Given the description of an element on the screen output the (x, y) to click on. 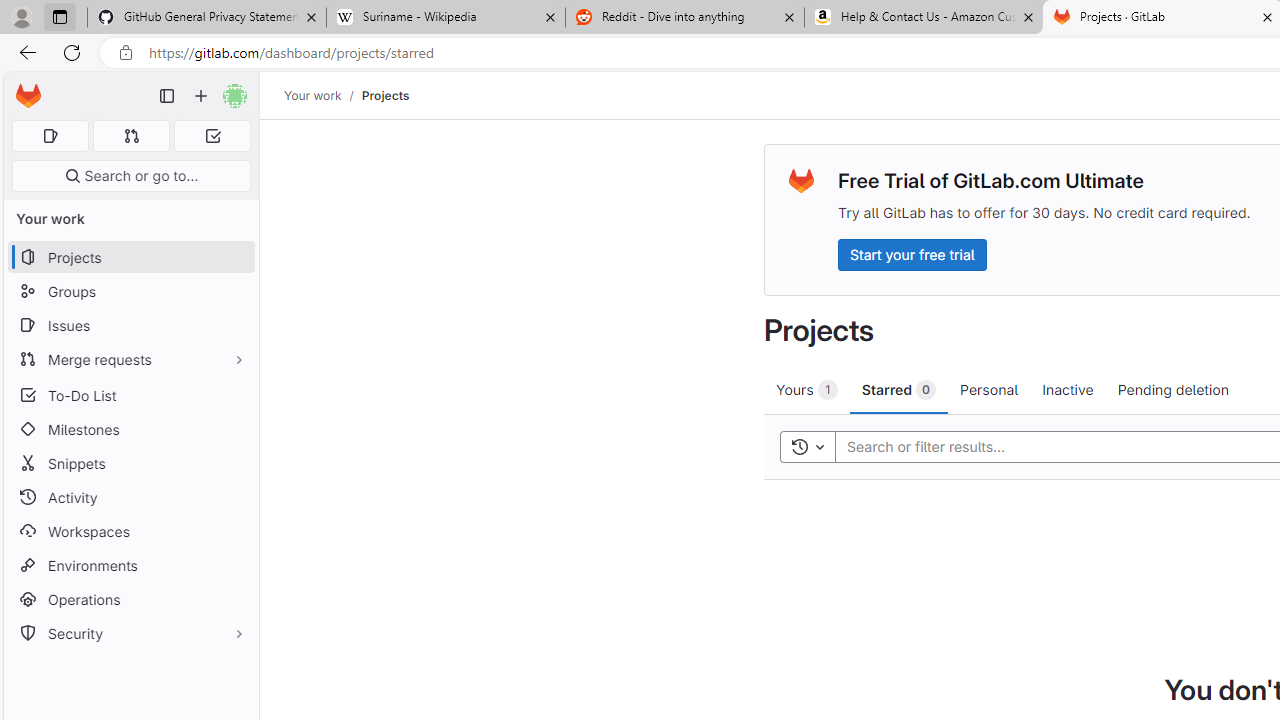
Yours 1 (806, 389)
Activity (130, 497)
Projects (384, 95)
Help & Contact Us - Amazon Customer Service (924, 17)
Groups (130, 291)
To-Do List (130, 394)
Activity (130, 497)
Inactive (1067, 389)
Issues (130, 325)
Environments (130, 564)
Toggle history (807, 445)
Starred 0 (898, 389)
